Given the description of an element on the screen output the (x, y) to click on. 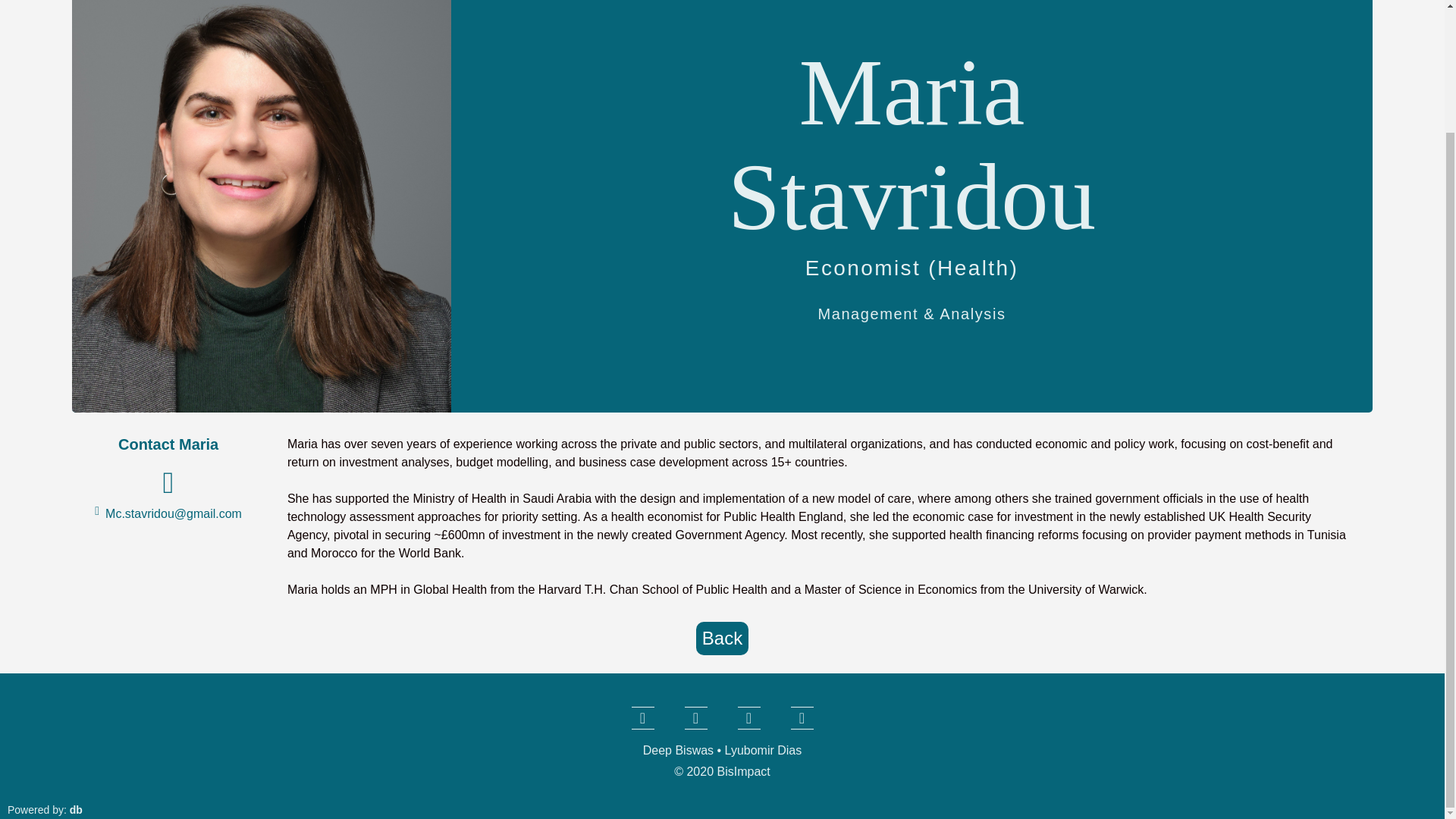
Powered by: db (44, 809)
Back (721, 638)
Deep Biswas (680, 749)
